Given the description of an element on the screen output the (x, y) to click on. 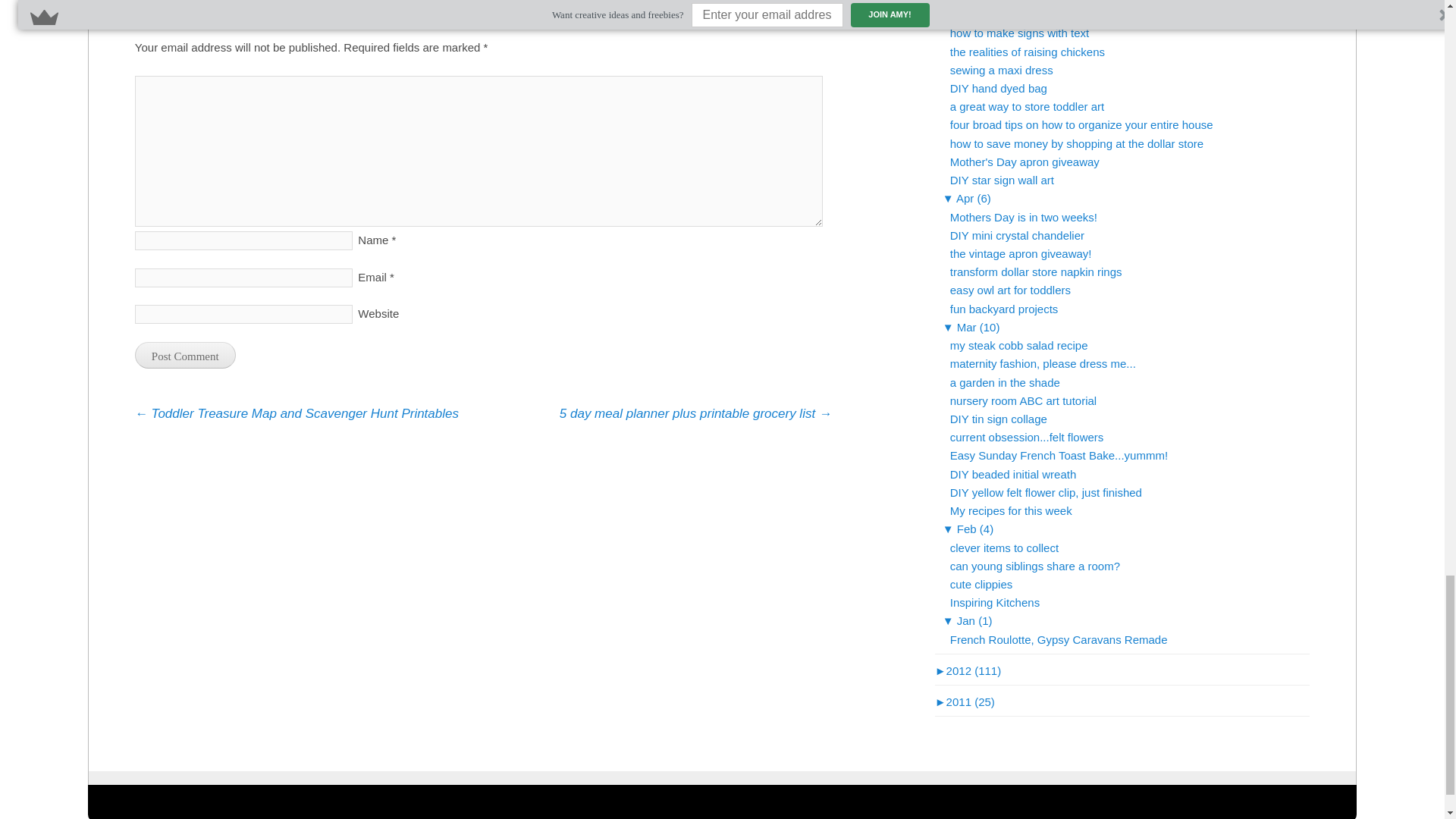
Post Comment (185, 355)
